Given the description of an element on the screen output the (x, y) to click on. 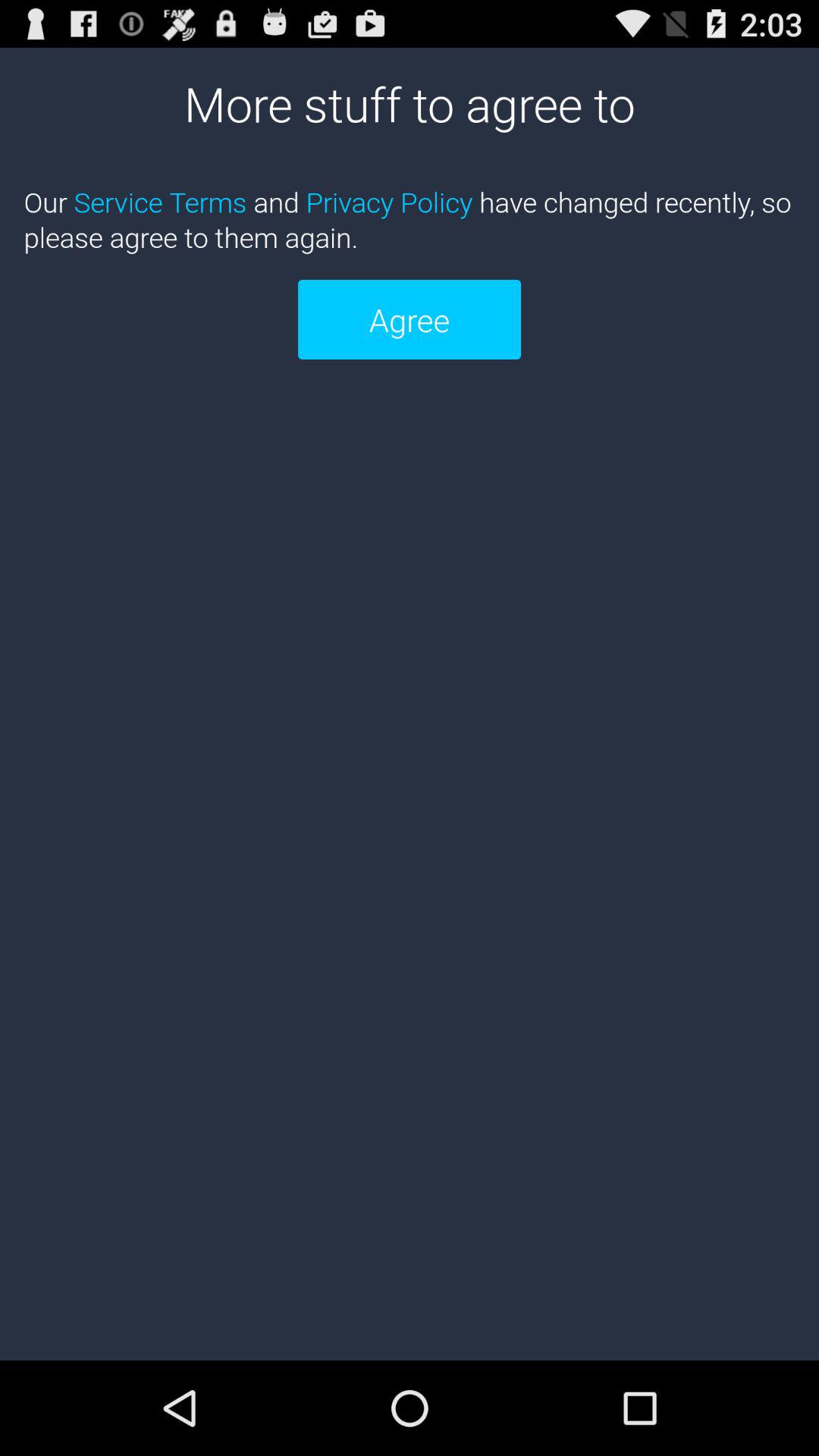
press item above agree (409, 219)
